Given the description of an element on the screen output the (x, y) to click on. 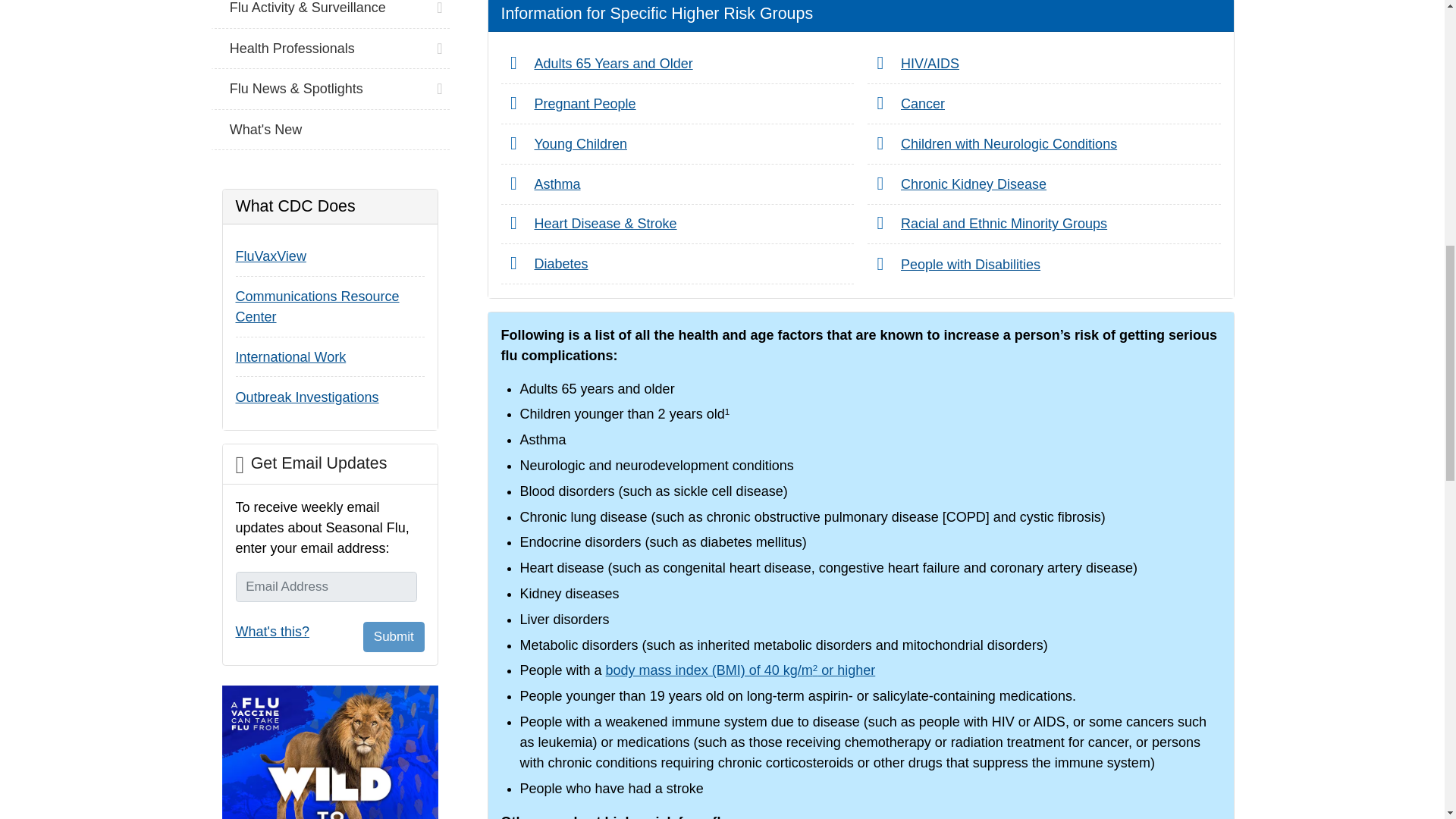
Email Address (325, 586)
A flu vaccine can take flu from wild to mild (329, 752)
